Given the description of an element on the screen output the (x, y) to click on. 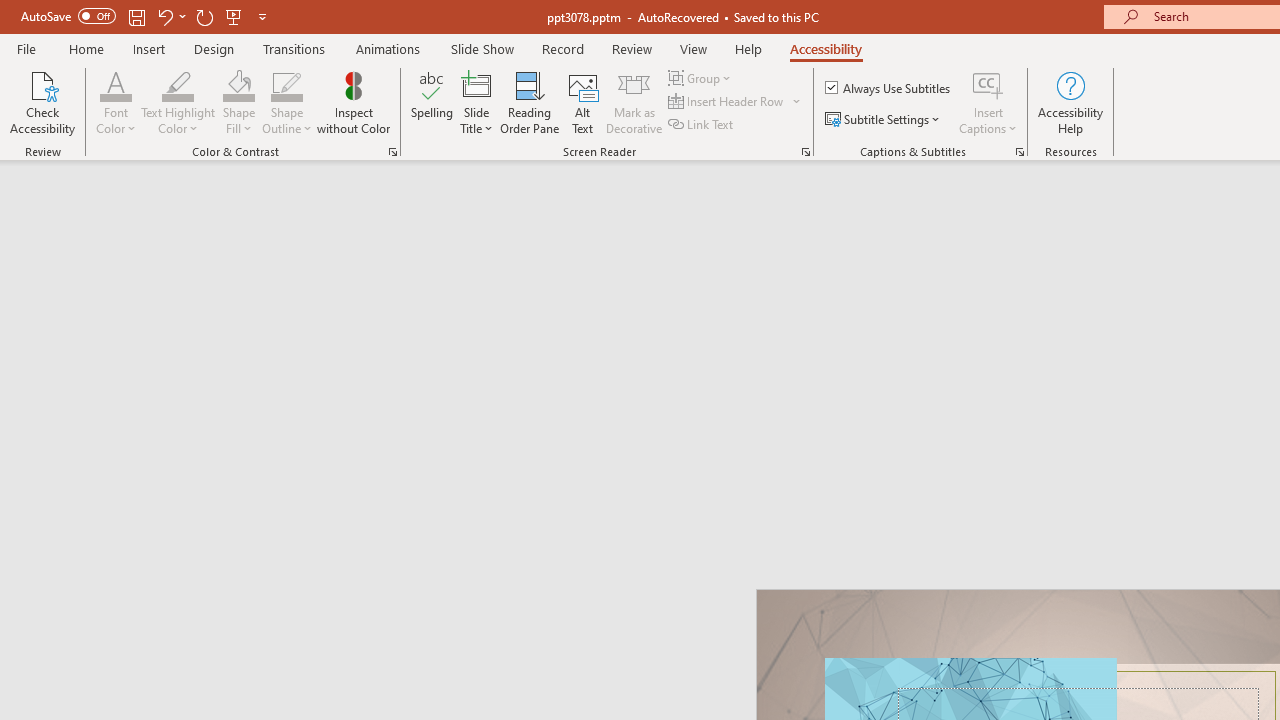
Link Text (702, 124)
Accessibility Help (1070, 102)
